Given the description of an element on the screen output the (x, y) to click on. 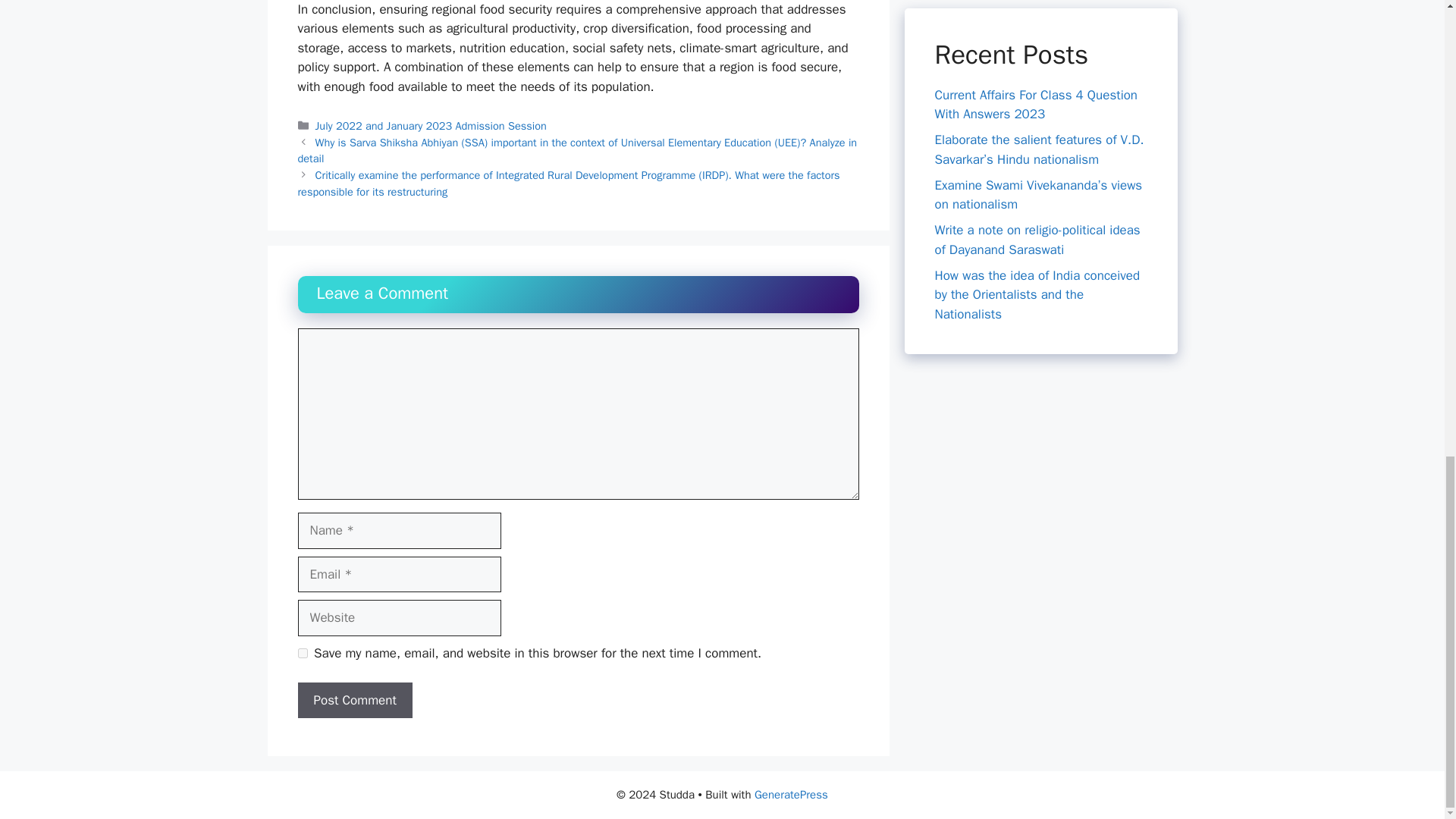
GeneratePress (791, 794)
July 2022 and January 2023 Admission Session (431, 125)
yes (302, 653)
Post Comment (354, 700)
Post Comment (354, 700)
